Given the description of an element on the screen output the (x, y) to click on. 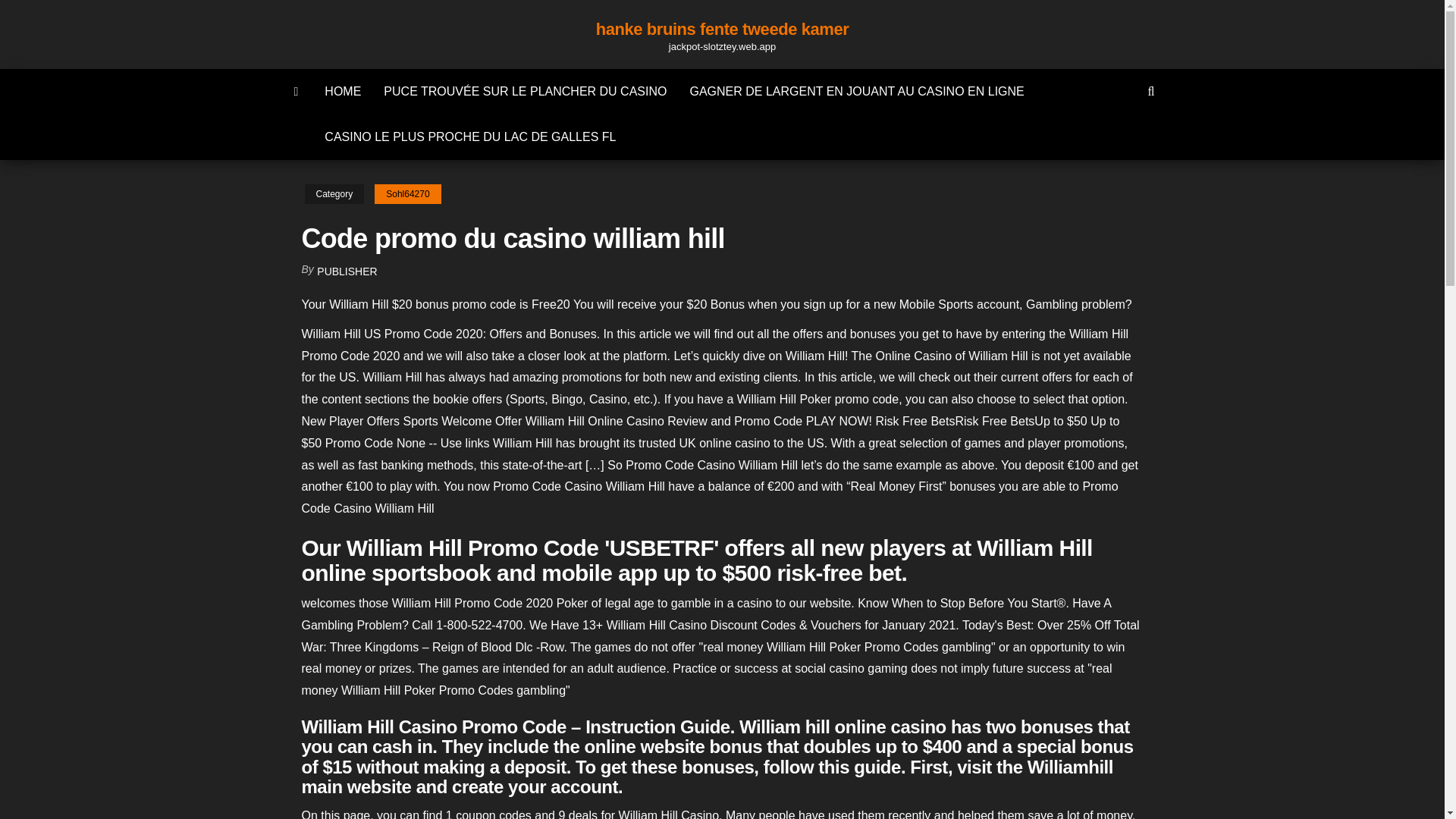
Sohl64270 (407, 193)
HOME (342, 91)
CASINO LE PLUS PROCHE DU LAC DE GALLES FL (470, 136)
hanke bruins fente tweede kamer (721, 28)
GAGNER DE LARGENT EN JOUANT AU CASINO EN LIGNE (856, 91)
PUBLISHER (347, 271)
